Given the description of an element on the screen output the (x, y) to click on. 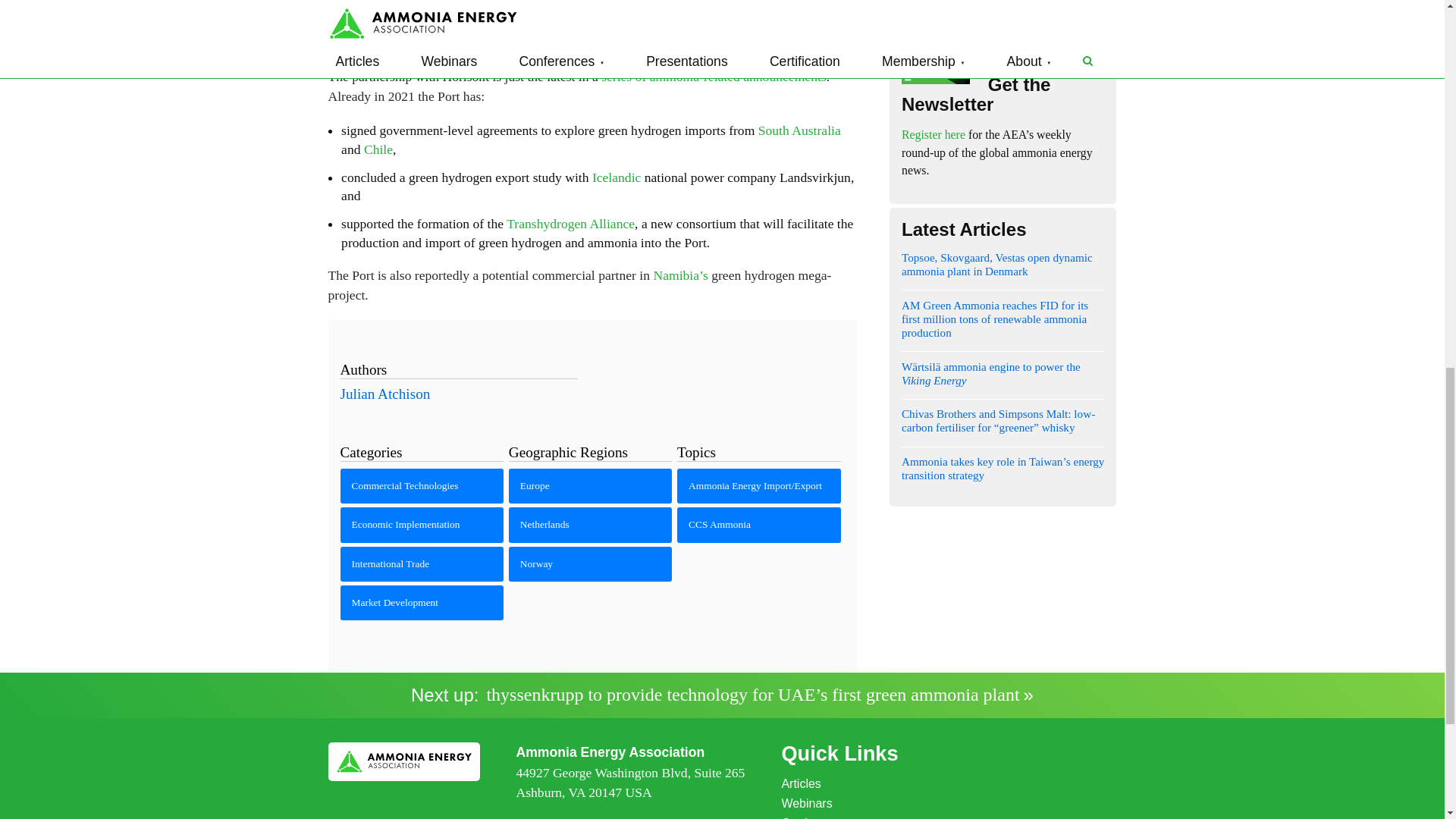
See other items in CCS Ammonia Topics (759, 524)
Chile (378, 149)
See other items in Netherlands Geographic Regions (590, 524)
See other items in Economic Implementation Categories (421, 524)
See other items in Europe Geographic Regions (590, 485)
Icelandic (616, 177)
South Australia (799, 130)
series of ammonia-related announcements (714, 76)
See other items in Norway Geographic Regions (590, 564)
See other items in International Trade Categories (421, 564)
